Given the description of an element on the screen output the (x, y) to click on. 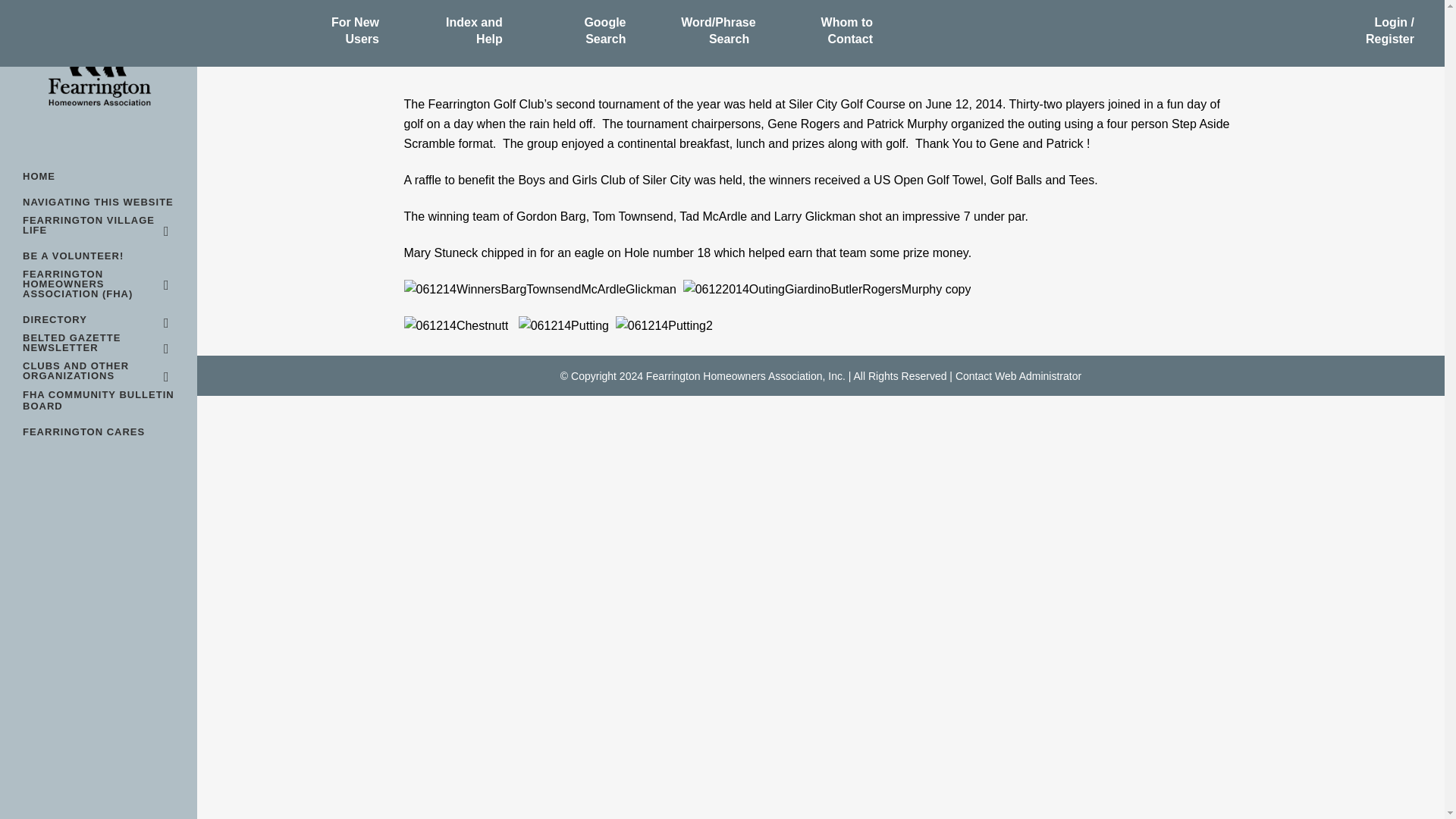
For New Users (344, 40)
Whom to Contact (838, 40)
Index and Help (467, 40)
Google Search (591, 40)
